Given the description of an element on the screen output the (x, y) to click on. 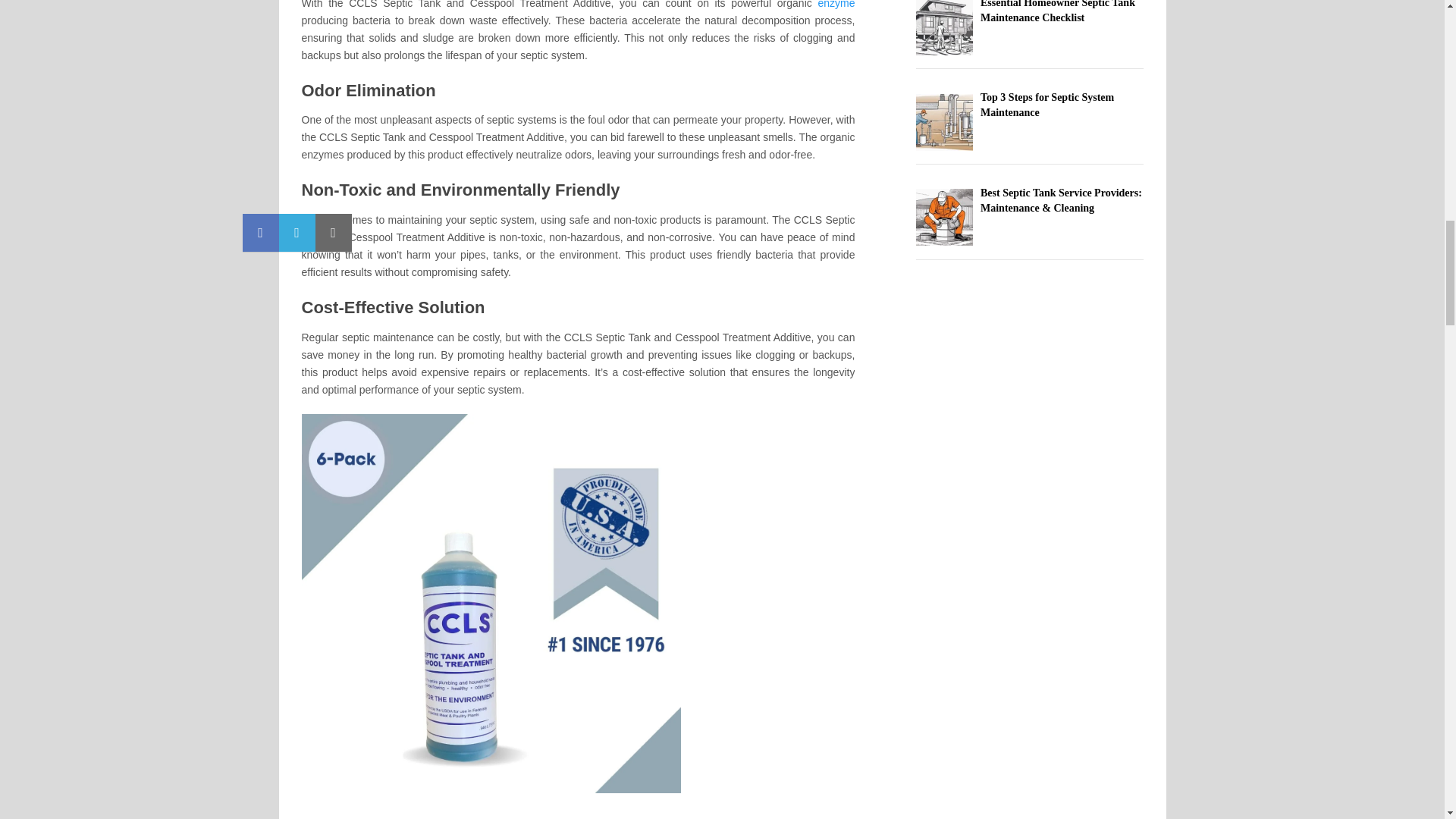
enzyme (835, 4)
